Given the description of an element on the screen output the (x, y) to click on. 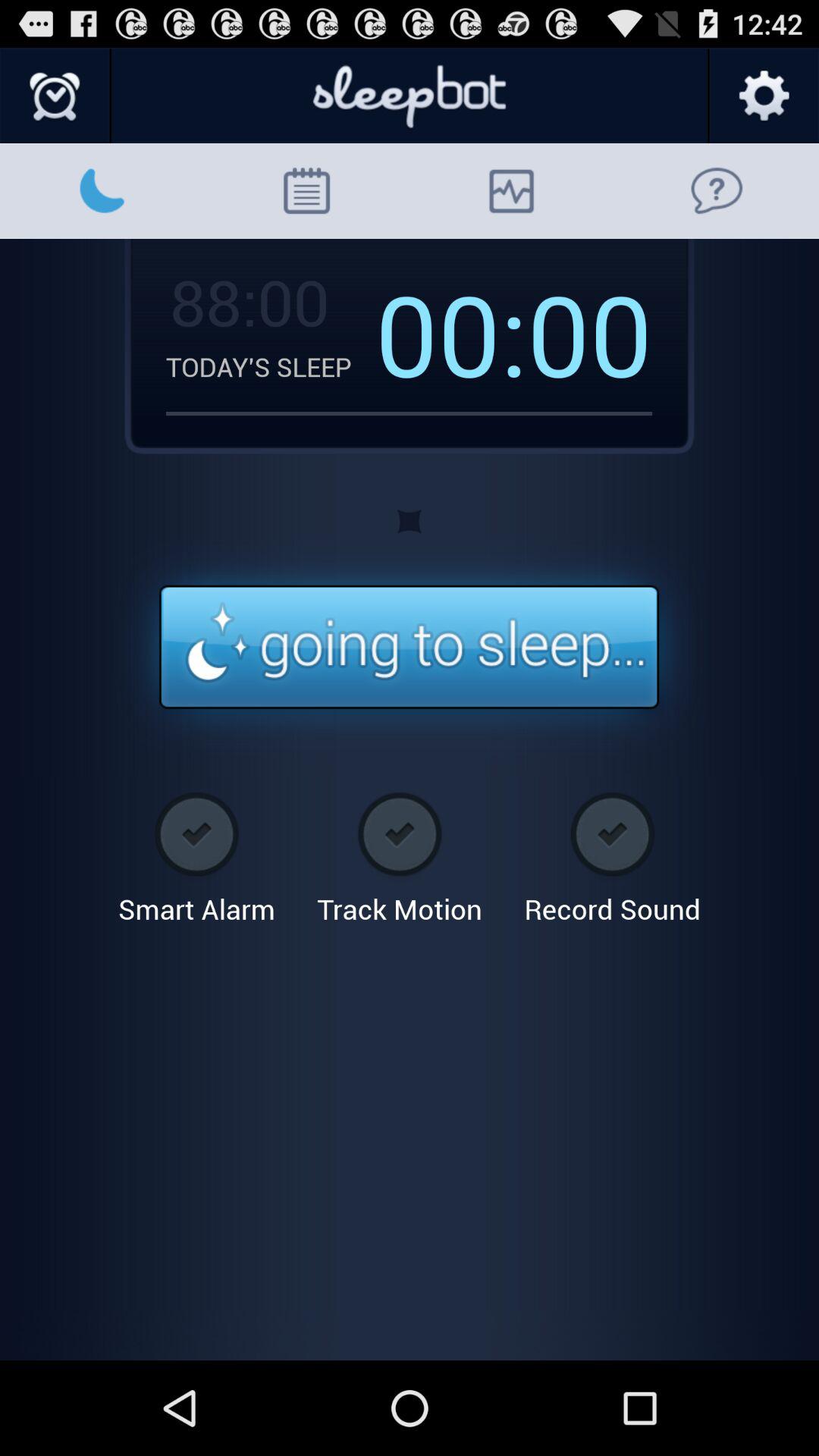
put app to sleep (408, 647)
